Given the description of an element on the screen output the (x, y) to click on. 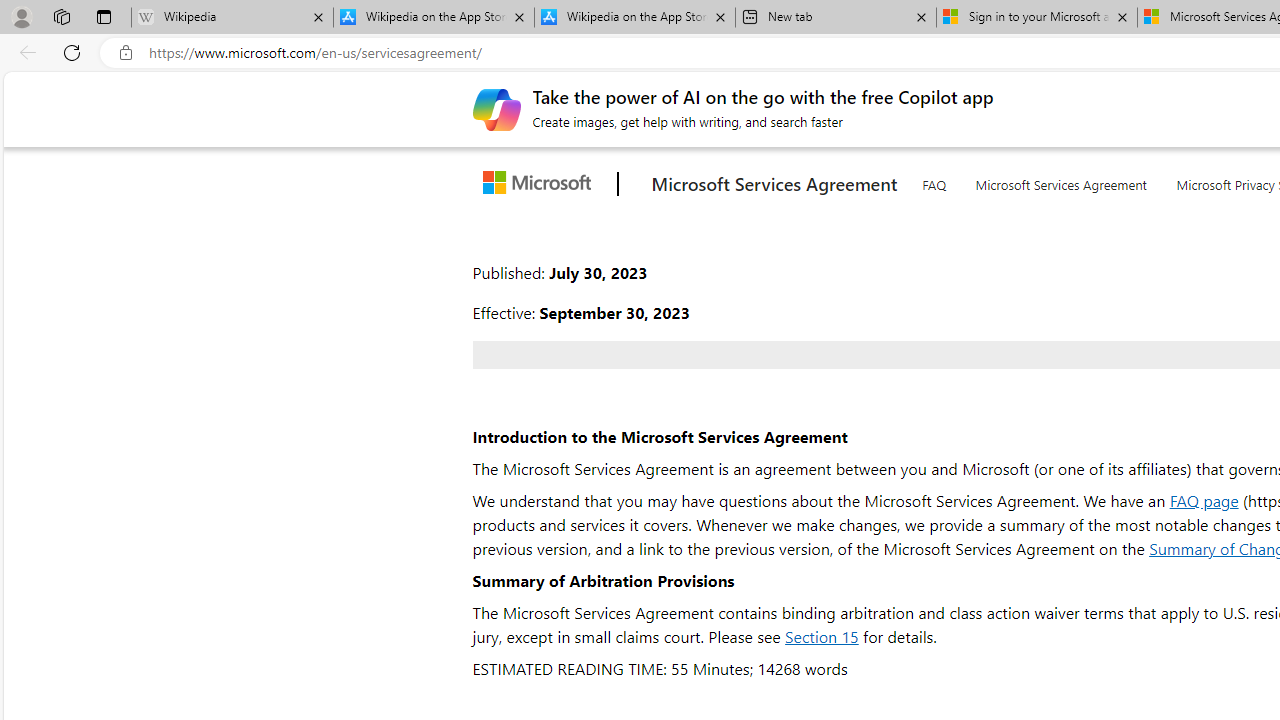
Microsoft Services Agreement (1061, 181)
Sign in to your Microsoft account (1036, 17)
FAQ (933, 181)
FAQ (933, 180)
Microsoft Services Agreement (1061, 180)
FAQ page (1203, 500)
